Given the description of an element on the screen output the (x, y) to click on. 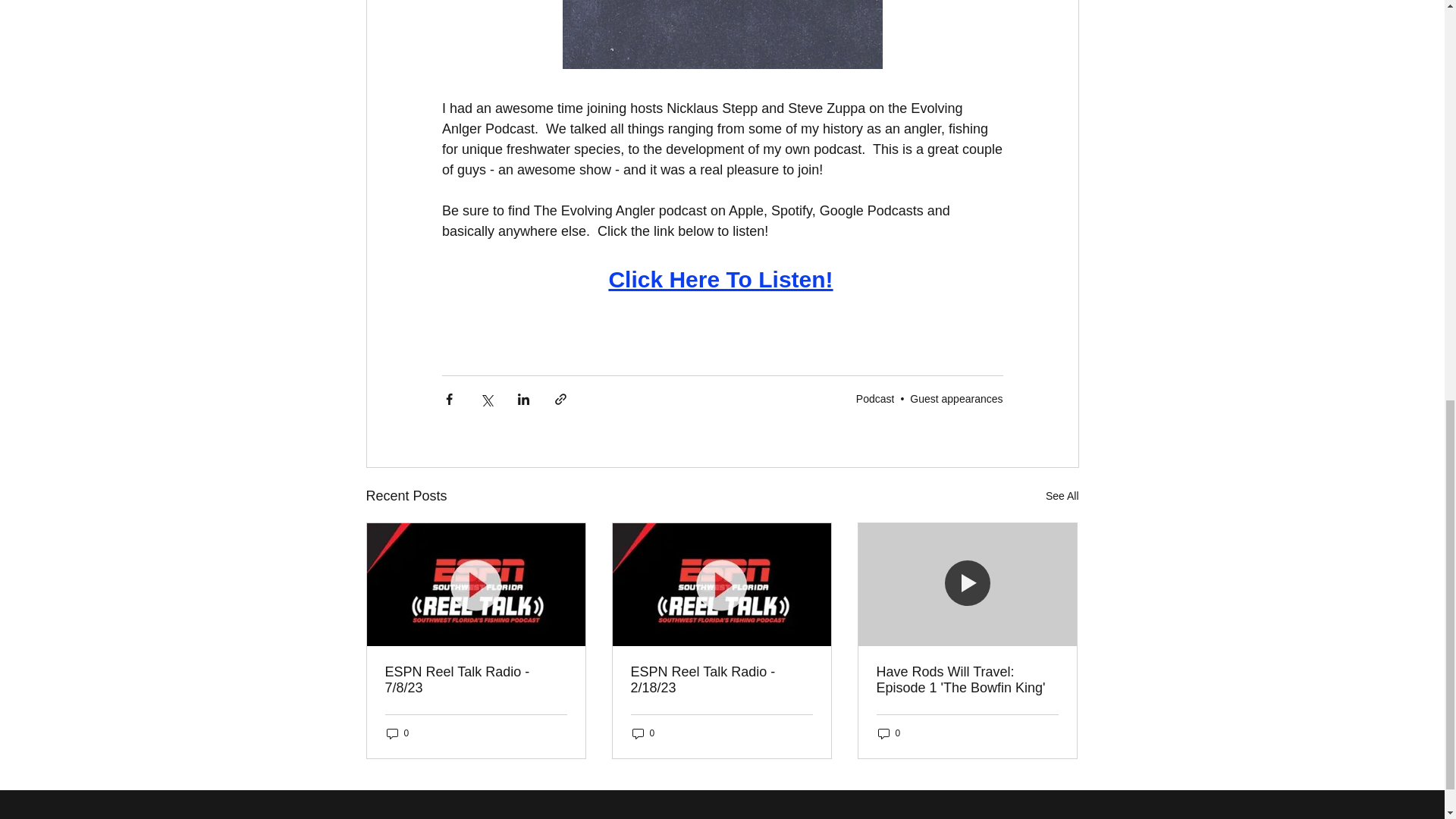
Podcast (875, 398)
Click Here To Listen! (720, 282)
Guest appearances (956, 398)
